Given the description of an element on the screen output the (x, y) to click on. 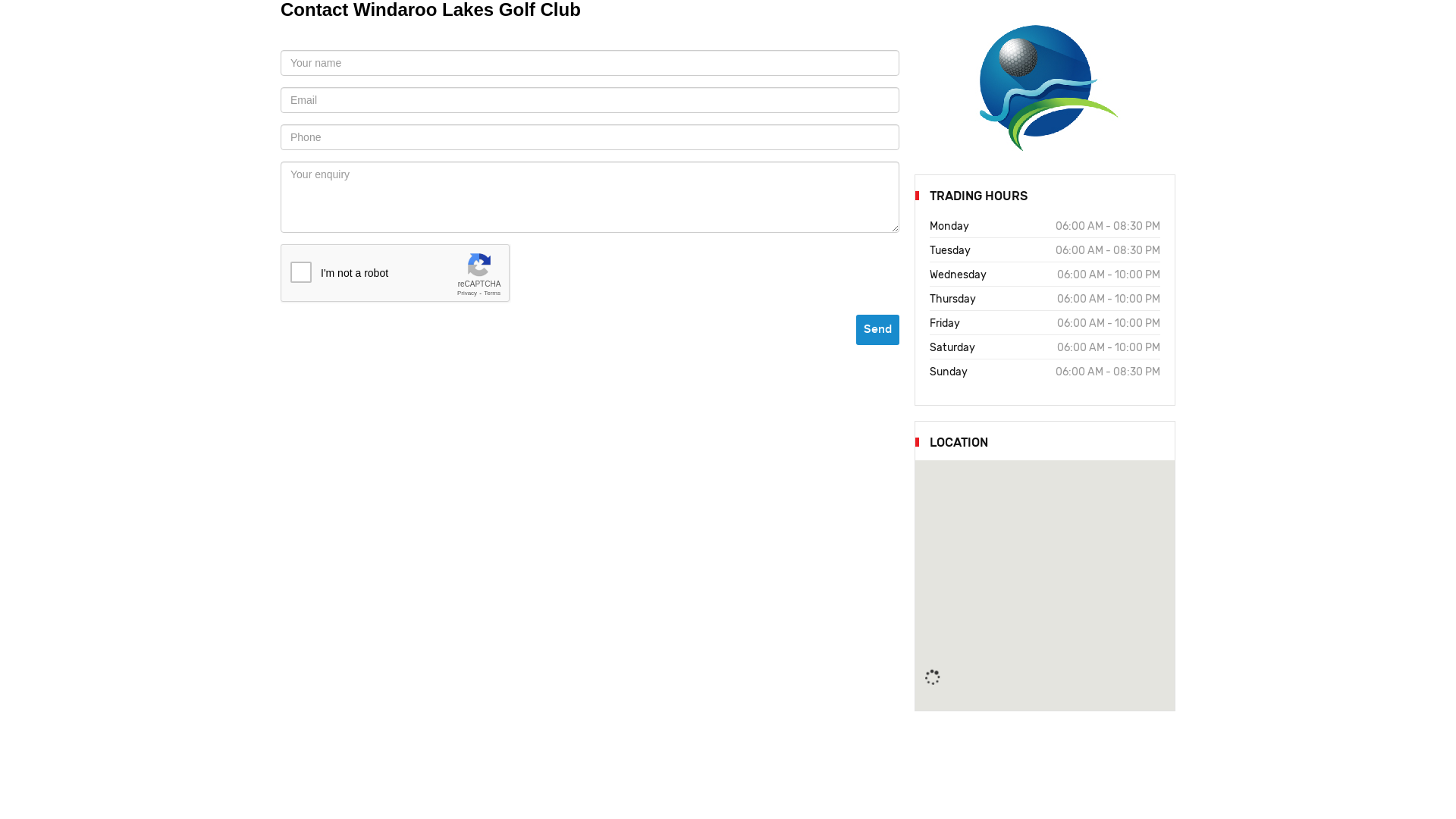
reCAPTCHA Element type: hover (395, 273)
Send Element type: text (877, 329)
